Given the description of an element on the screen output the (x, y) to click on. 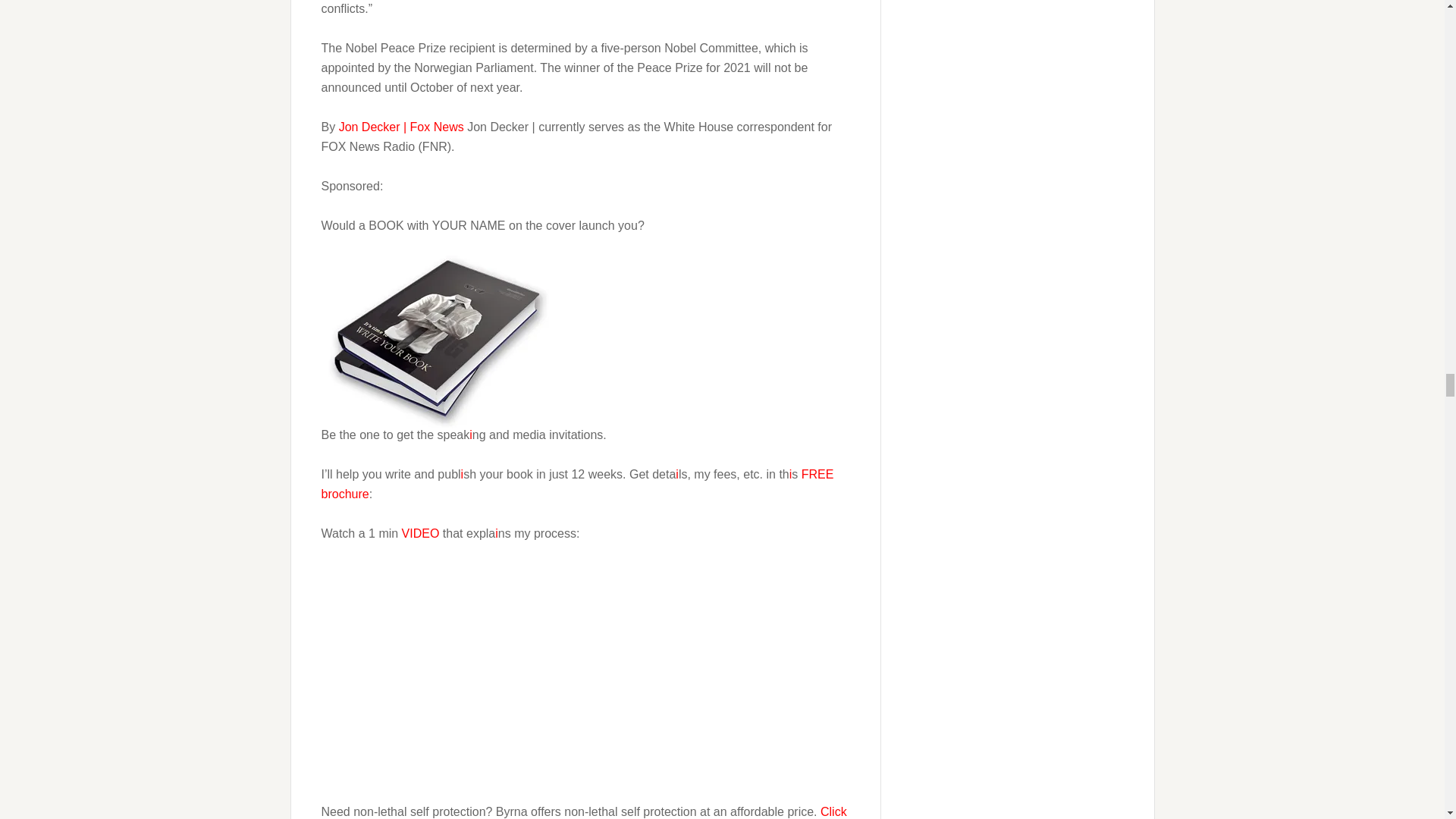
Your Book Makes You the Expert (510, 669)
